Given the description of an element on the screen output the (x, y) to click on. 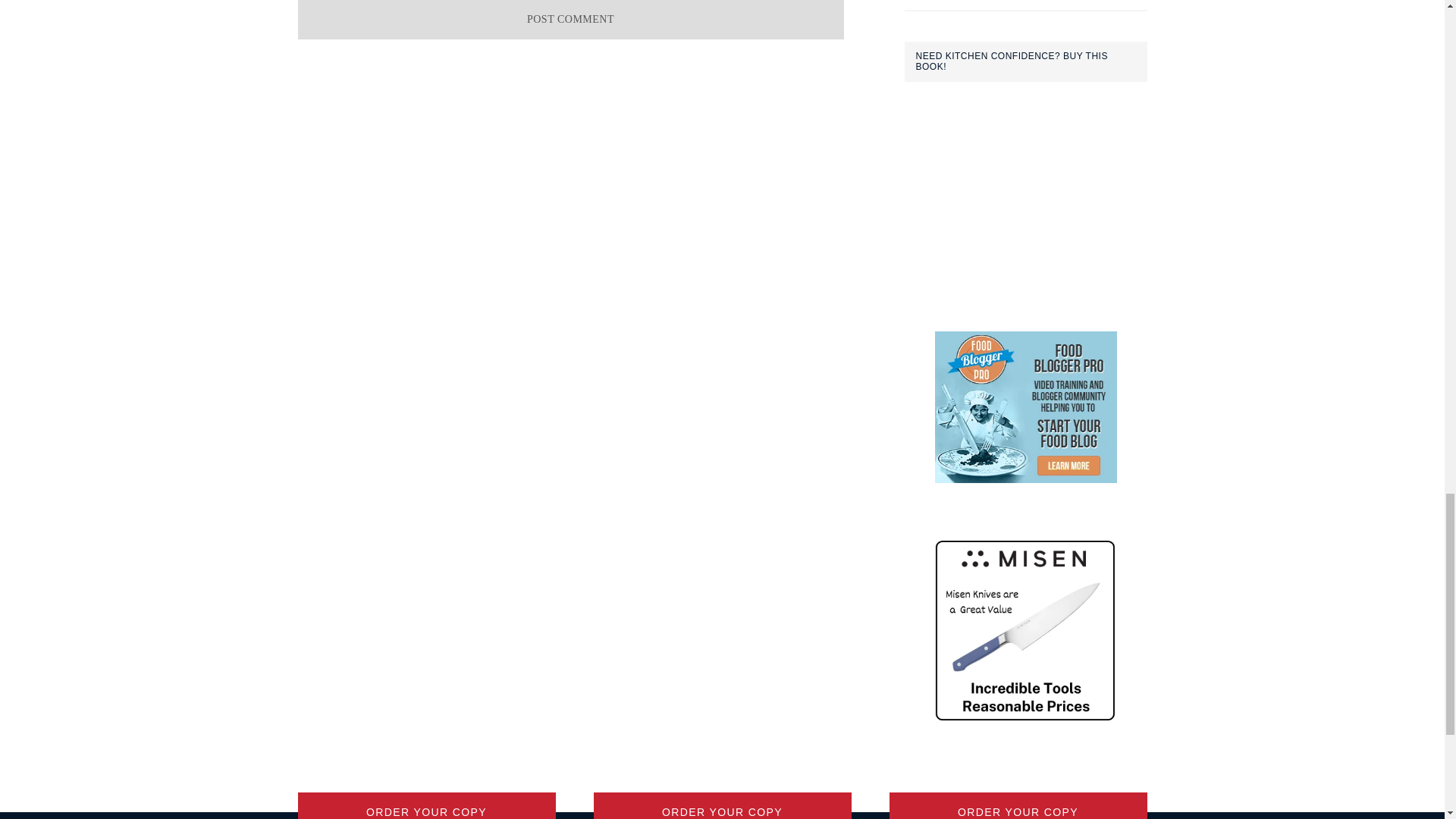
Post Comment (570, 20)
Post Comment (570, 20)
